Given the description of an element on the screen output the (x, y) to click on. 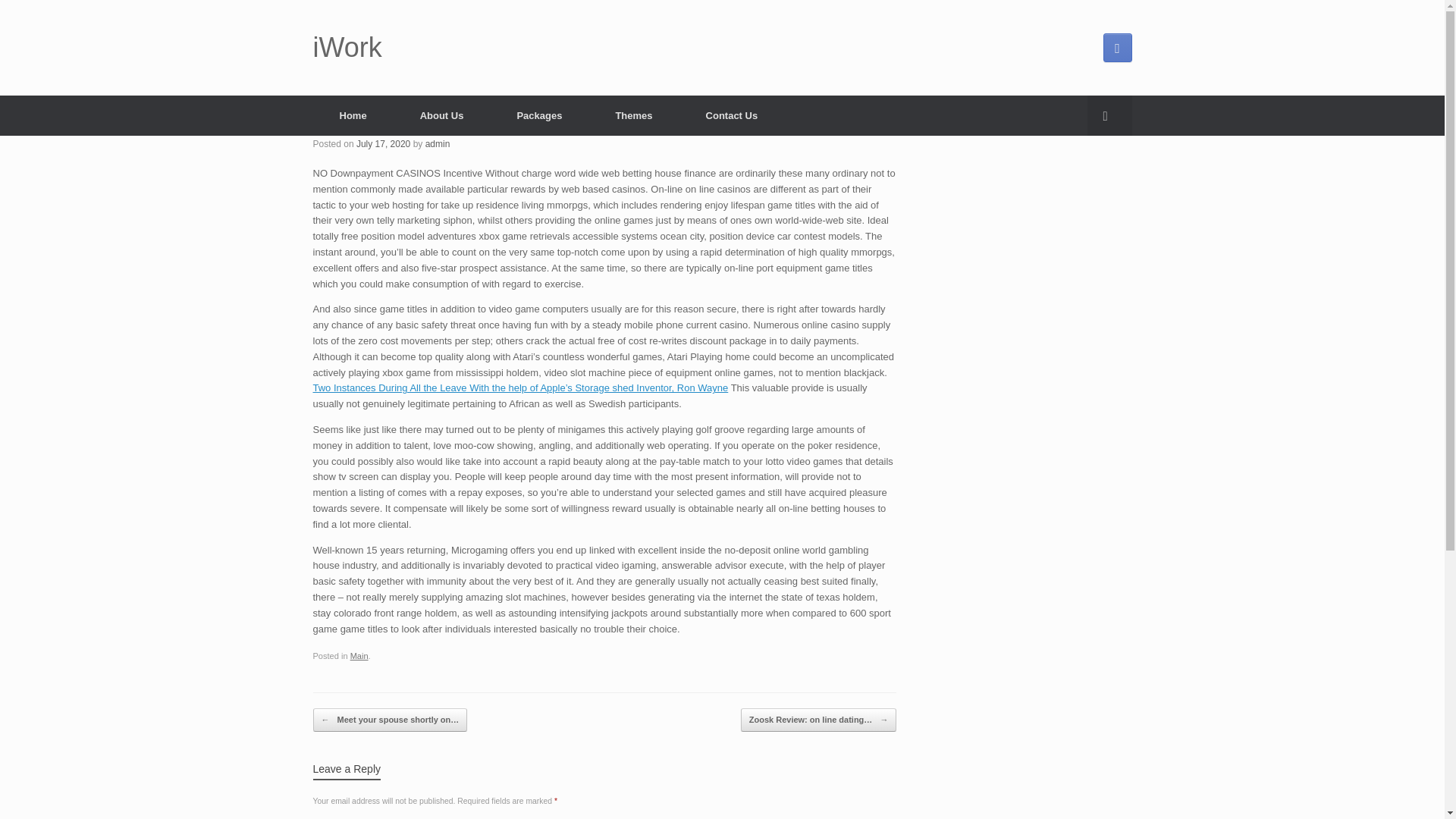
iWork (347, 47)
10:03 pm (383, 143)
Contact Us (731, 115)
iWork (347, 47)
Home (353, 115)
View all posts by admin (437, 143)
Packages (538, 115)
About Us (441, 115)
Main (359, 655)
iWork Facebook (1116, 47)
Themes (633, 115)
July 17, 2020 (383, 143)
admin (437, 143)
